Given the description of an element on the screen output the (x, y) to click on. 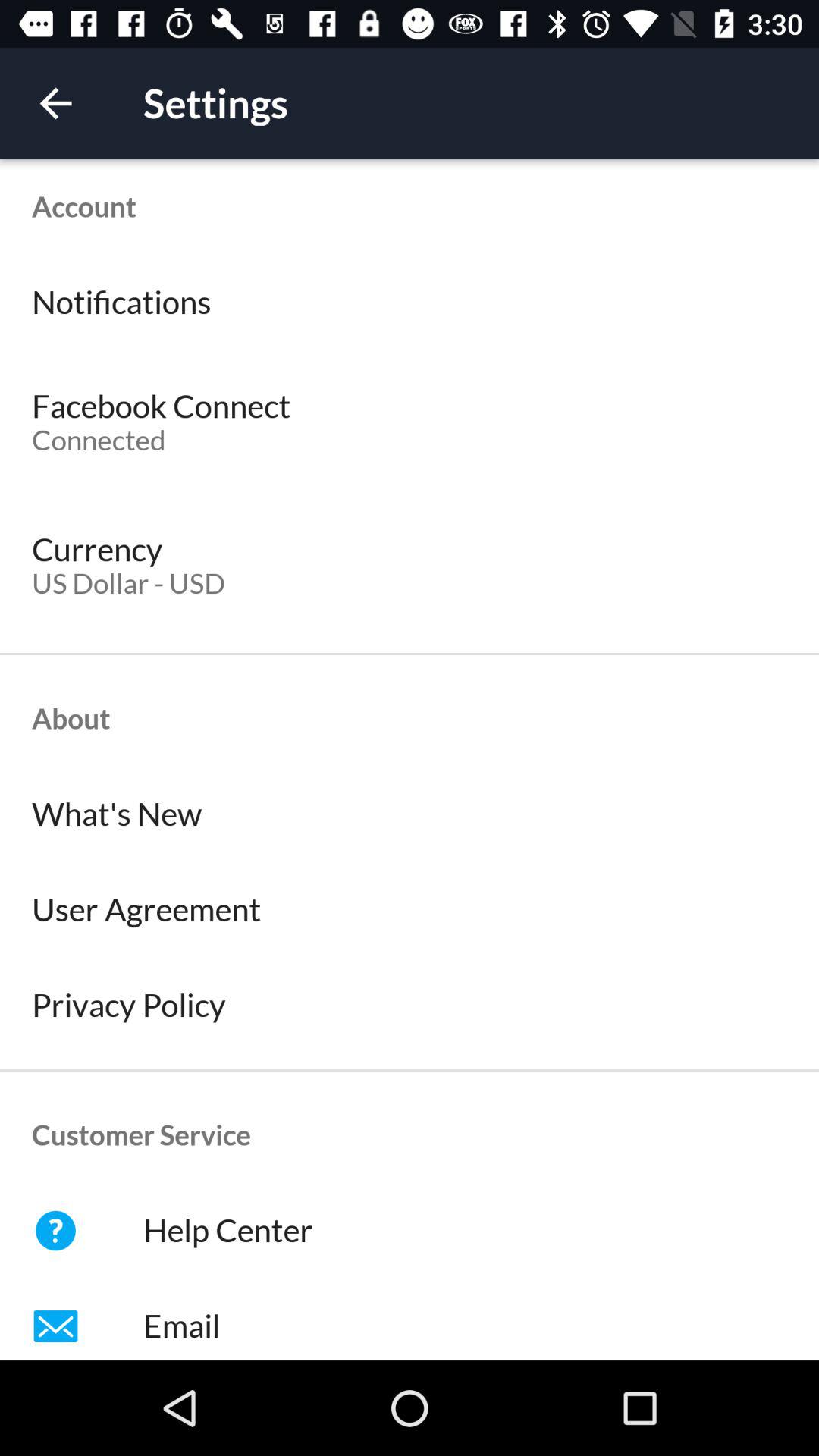
scroll until user agreement icon (409, 909)
